Given the description of an element on the screen output the (x, y) to click on. 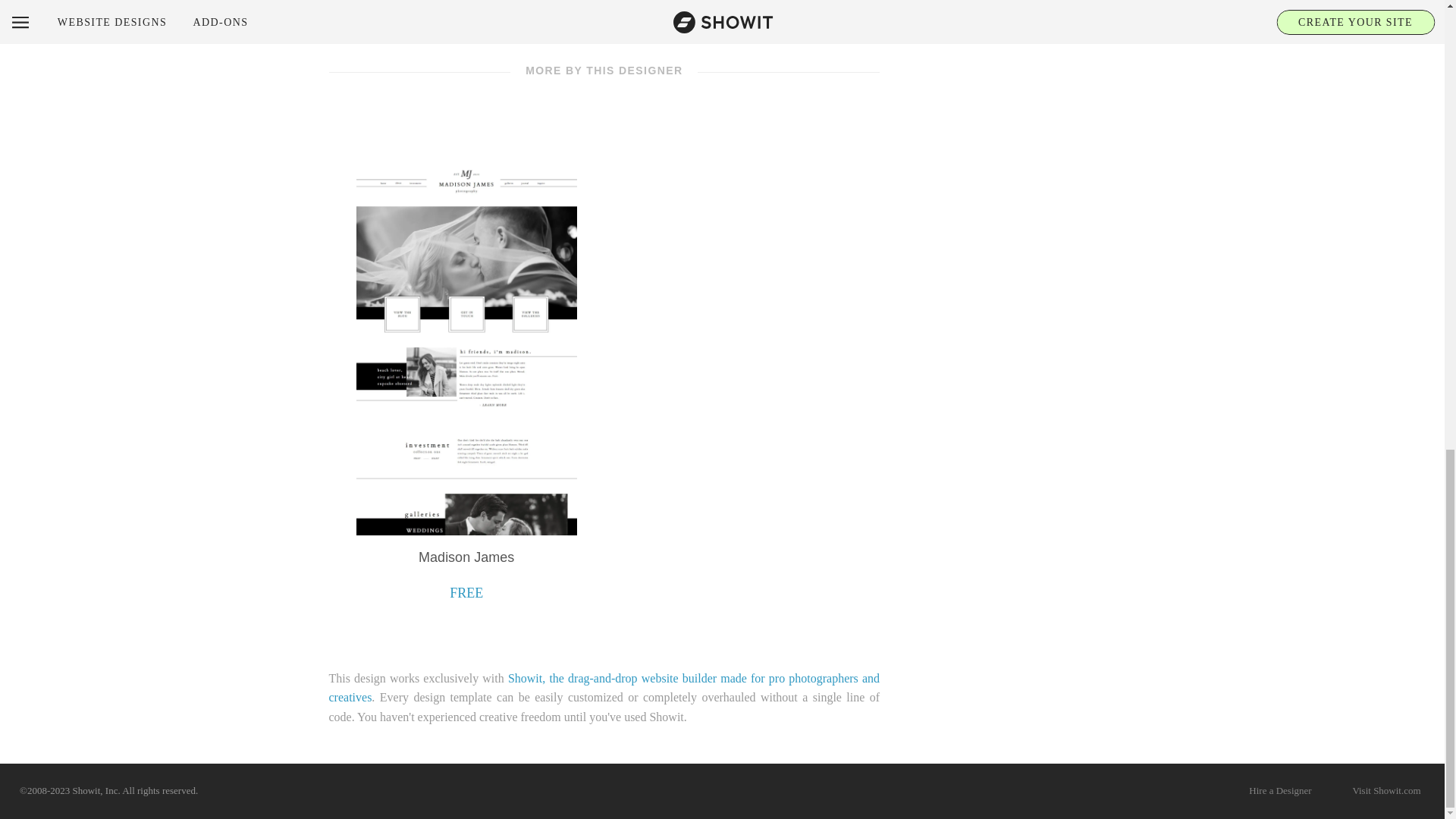
Visit Showit.com (1386, 791)
Hire a Designer (1280, 791)
Madison James (466, 557)
FREE (466, 593)
